Given the description of an element on the screen output the (x, y) to click on. 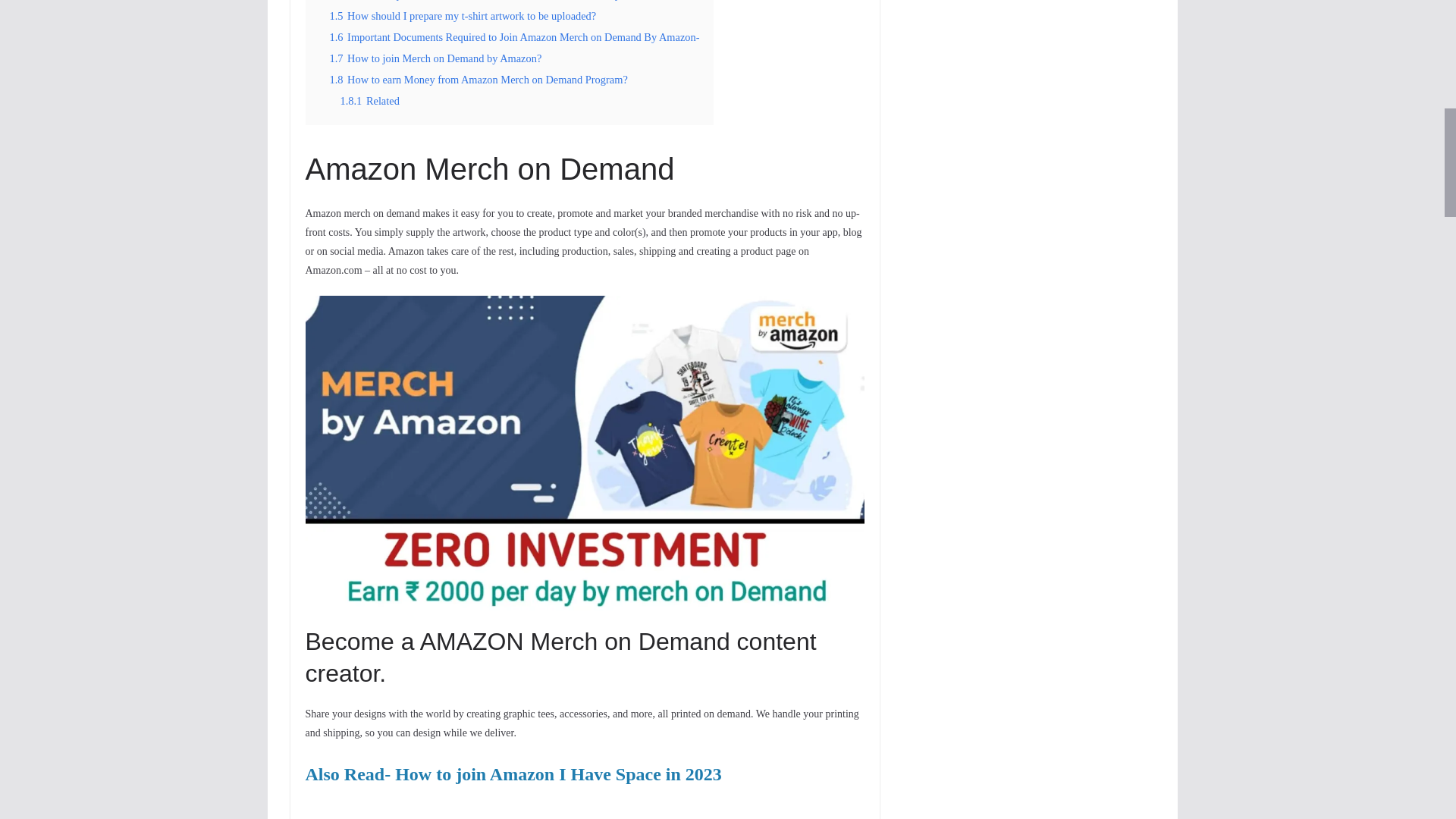
1.7 How to join Merch on Demand by Amazon? (435, 58)
1.8.1 Related (368, 101)
1.5 How should I prepare my t-shirt artwork to be uploaded? (462, 15)
1.8 How to earn Money from Amazon Merch on Demand Program? (478, 79)
Also Read- How to join Amazon I Have Space in 2023 (512, 776)
